Given the description of an element on the screen output the (x, y) to click on. 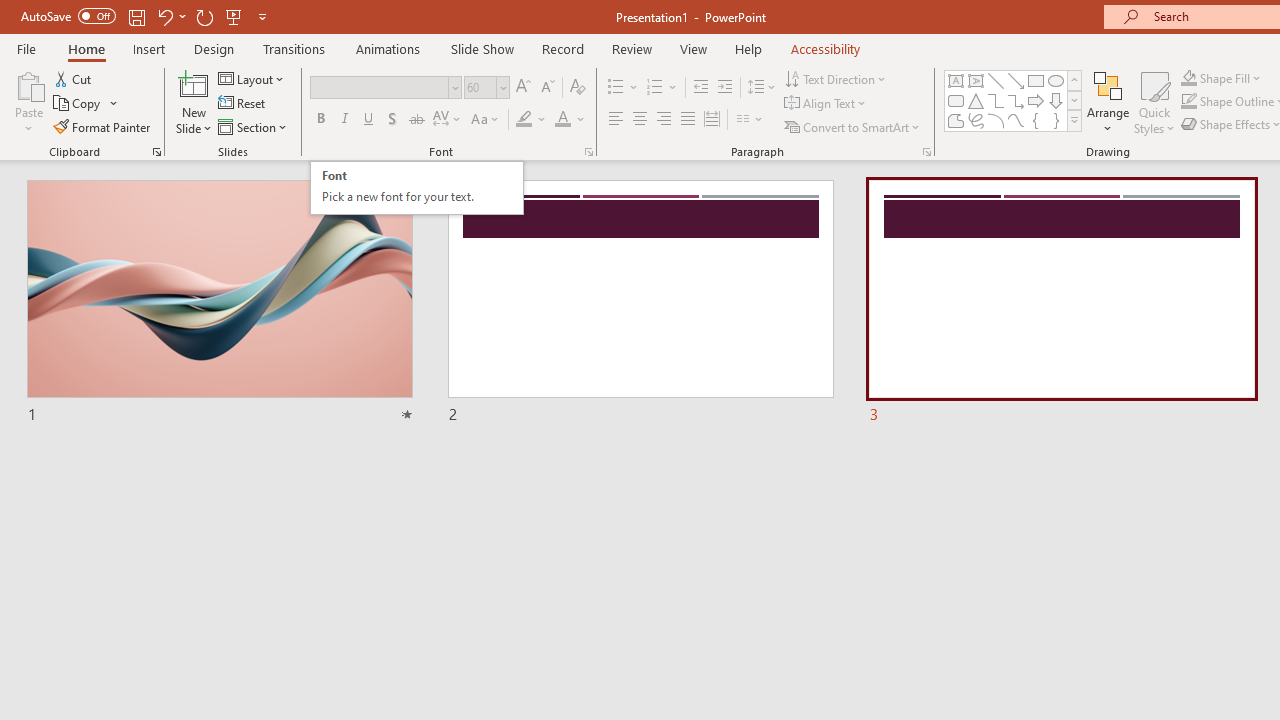
Shape Fill Orange, Accent 2 (1188, 78)
